Given the description of an element on the screen output the (x, y) to click on. 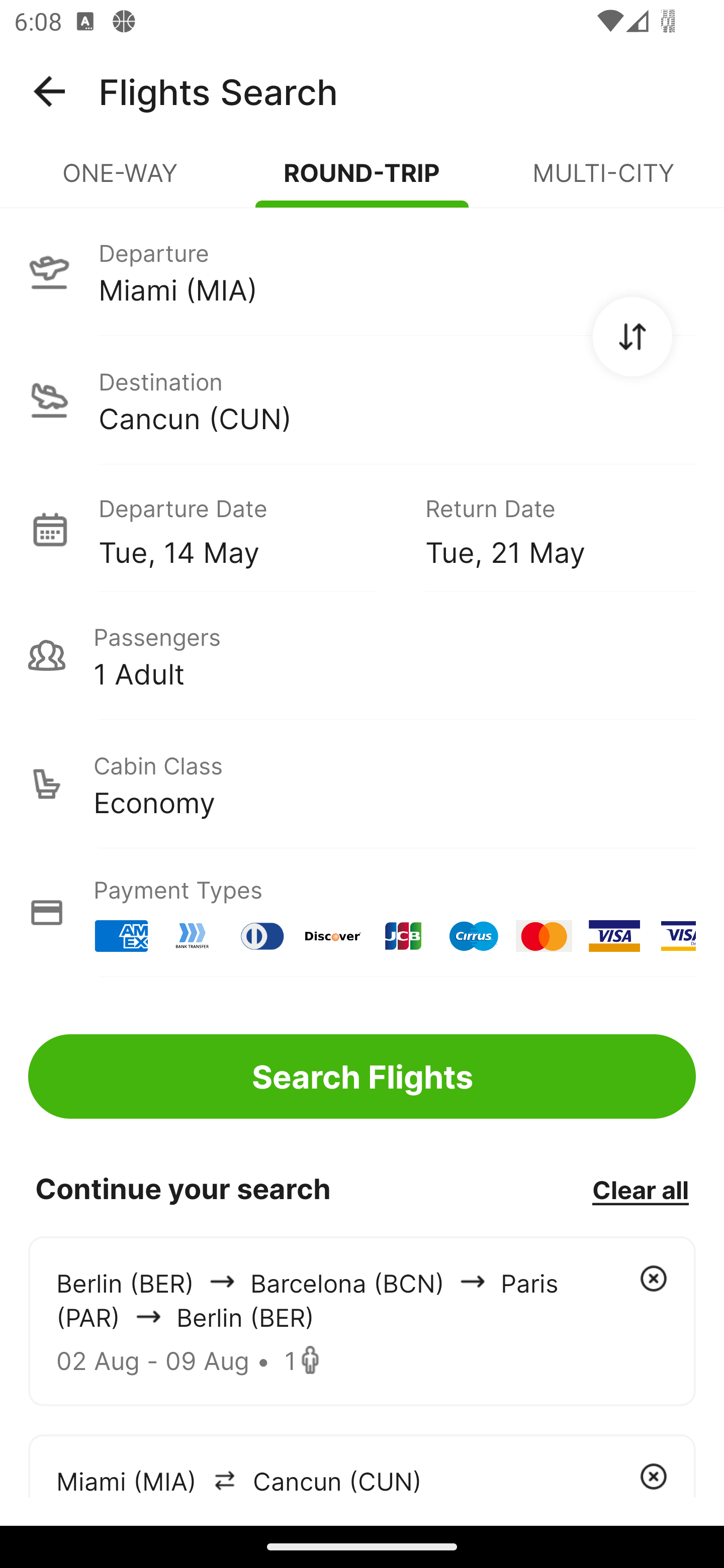
ONE-WAY (120, 180)
ROUND-TRIP (361, 180)
MULTI-CITY (603, 180)
Departure Miami (MIA) (362, 270)
Destination Cancun (CUN) (362, 400)
Departure Date Tue, 14 May (247, 528)
Return Date Tue, 21 May (546, 528)
Passengers 1 Adult (362, 655)
Cabin Class Economy (362, 783)
Payment Types (362, 912)
Search Flights (361, 1075)
Clear all (640, 1189)
Miami (MIA)  arrowIcon  Cancun (CUN) (361, 1465)
